Given the description of an element on the screen output the (x, y) to click on. 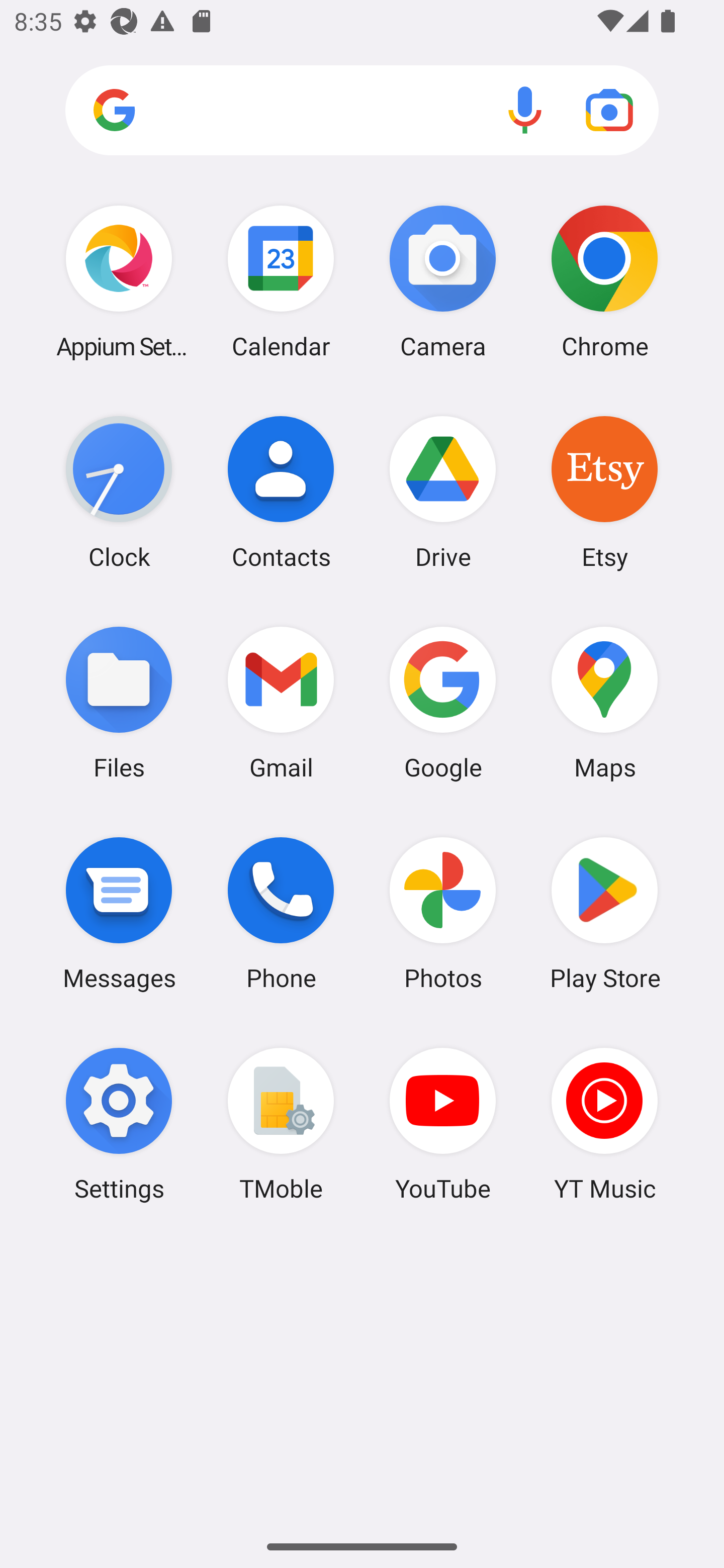
Search apps, web and more (361, 110)
Voice search (524, 109)
Google Lens (608, 109)
Appium Settings (118, 281)
Calendar (280, 281)
Camera (443, 281)
Chrome (604, 281)
Clock (118, 492)
Contacts (280, 492)
Drive (443, 492)
Etsy (604, 492)
Files (118, 702)
Gmail (280, 702)
Google (443, 702)
Maps (604, 702)
Messages (118, 913)
Phone (280, 913)
Photos (443, 913)
Play Store (604, 913)
Settings (118, 1124)
TMoble (280, 1124)
YouTube (443, 1124)
YT Music (604, 1124)
